Given the description of an element on the screen output the (x, y) to click on. 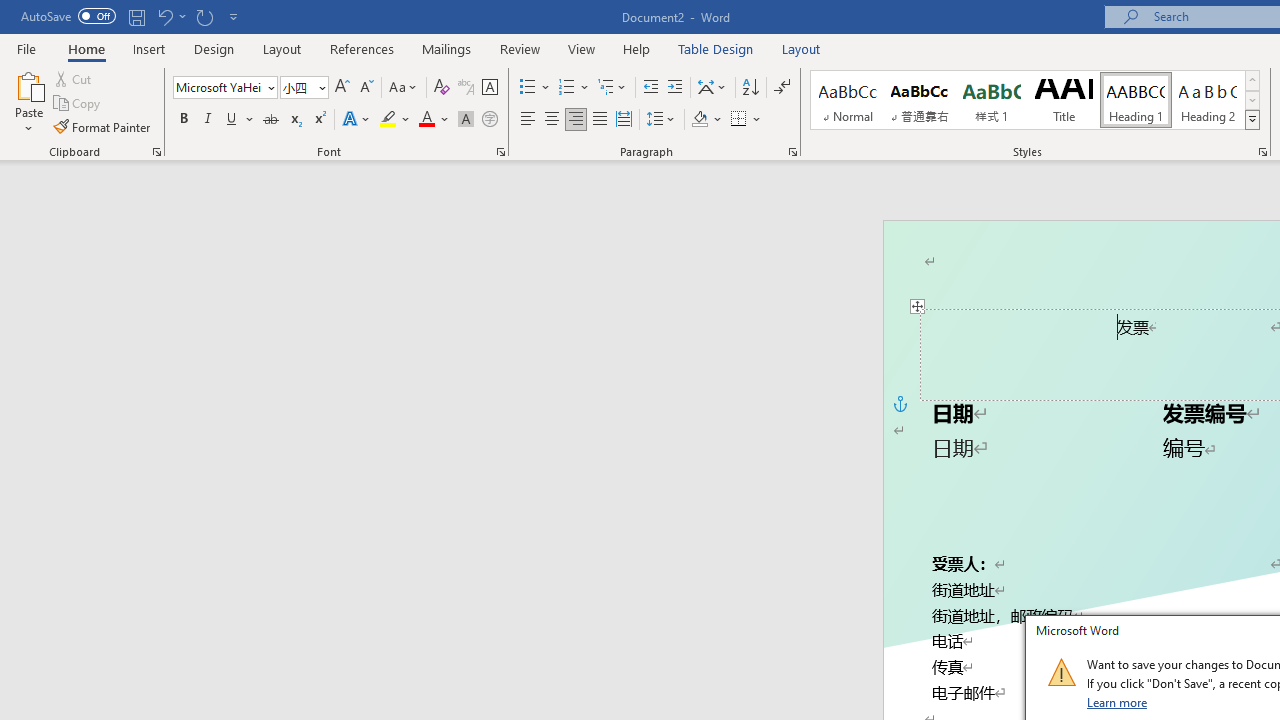
Learn more (1118, 702)
Repeat Style (204, 15)
